Given the description of an element on the screen output the (x, y) to click on. 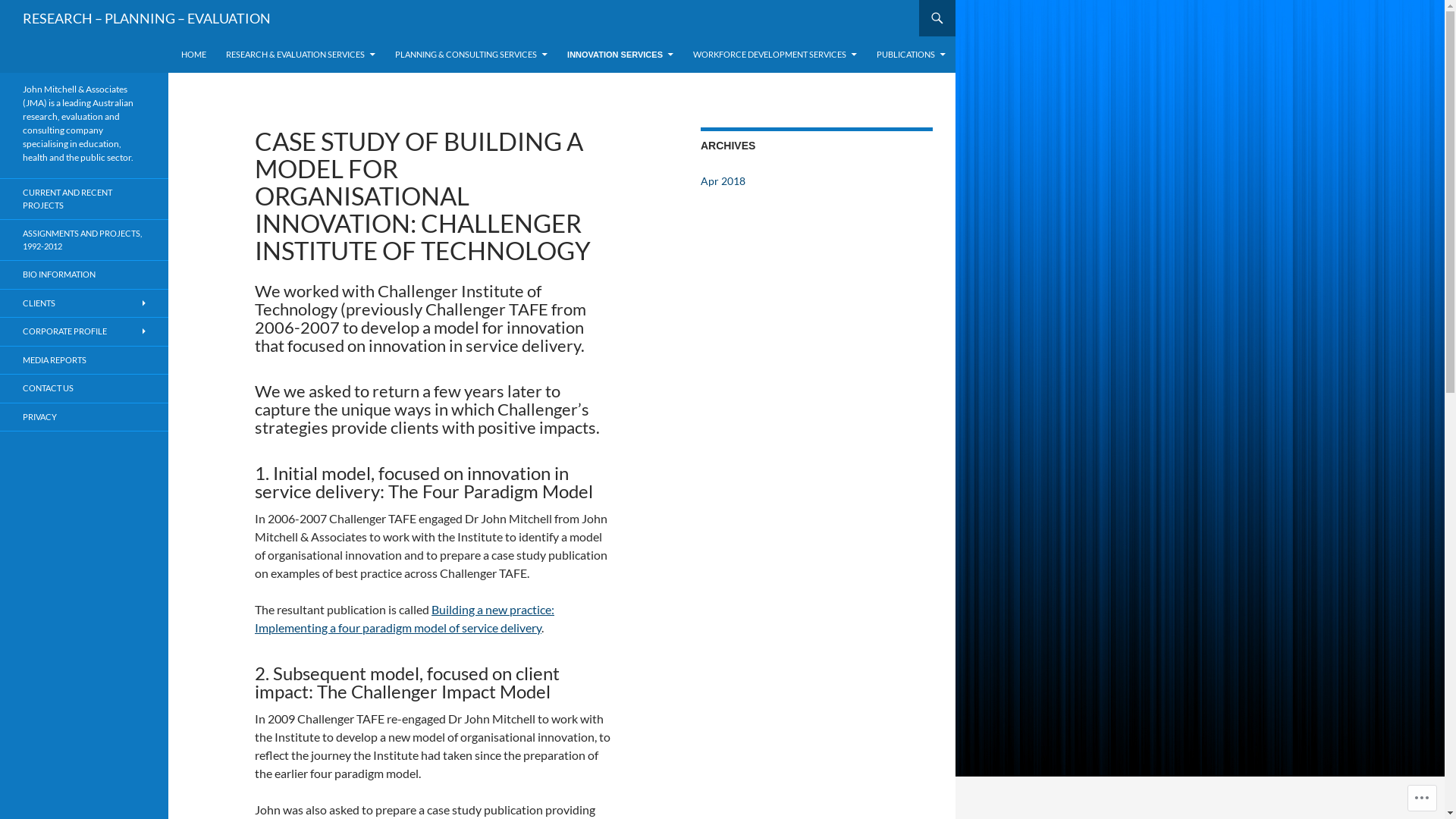
PLANNING & CONSULTING SERVICES Element type: text (470, 54)
CONTACT US Element type: text (84, 388)
BIO INFORMATION Element type: text (84, 274)
WORKFORCE DEVELOPMENT SERVICES Element type: text (775, 54)
MEDIA REPORTS Element type: text (84, 359)
Apr 2018 Element type: text (722, 180)
RESEARCH & EVALUATION SERVICES Element type: text (300, 54)
HOME Element type: text (193, 54)
CORPORATE PROFILE Element type: text (84, 331)
CLIENTS Element type: text (84, 303)
INNOVATION SERVICES Element type: text (620, 54)
ASSIGNMENTS AND PROJECTS, 1992-2012 Element type: text (84, 239)
CURRENT AND RECENT PROJECTS Element type: text (84, 198)
PUBLICATIONS Element type: text (910, 54)
PRIVACY Element type: text (84, 417)
